Given the description of an element on the screen output the (x, y) to click on. 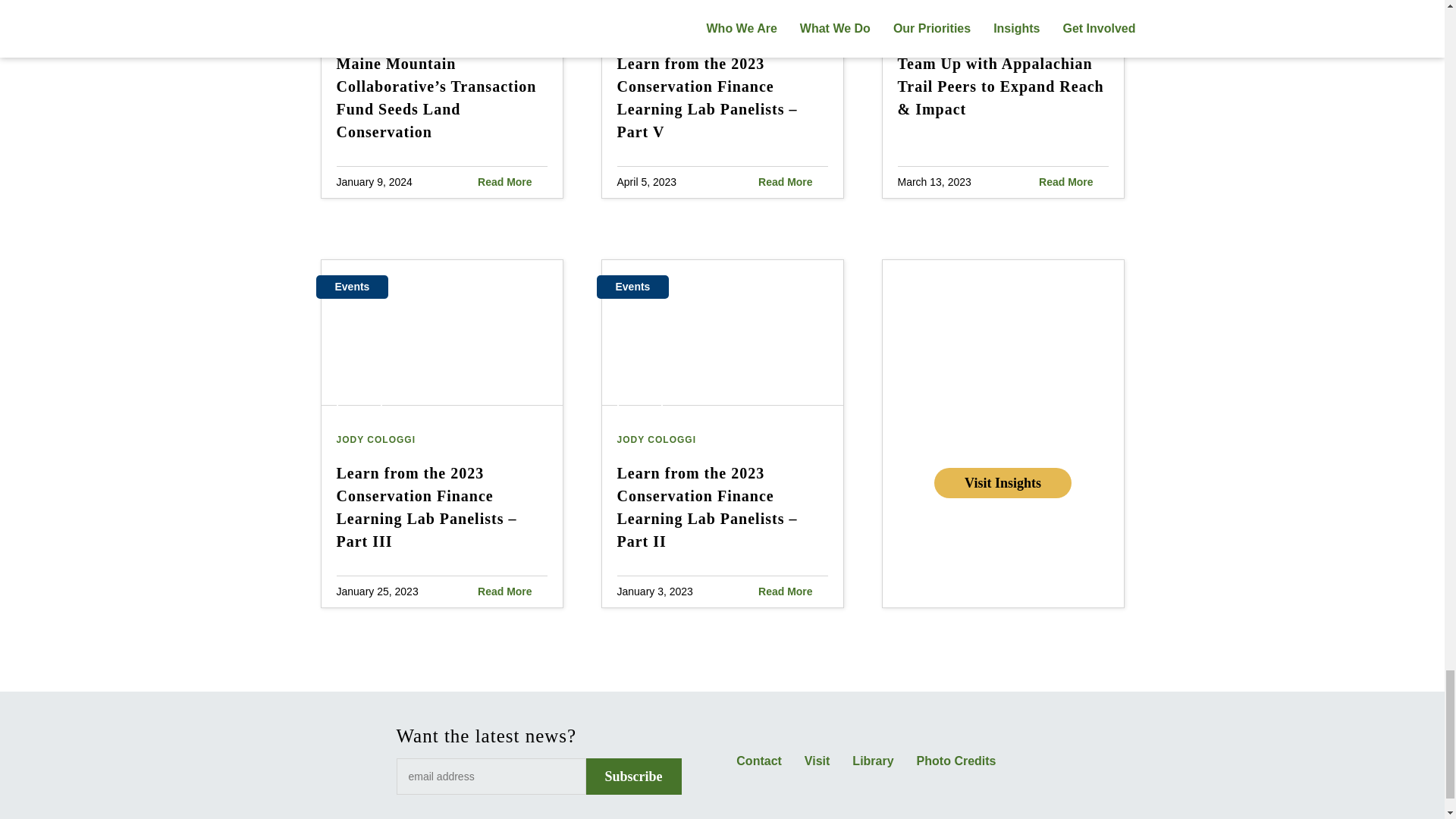
Subscribe (633, 776)
